Given the description of an element on the screen output the (x, y) to click on. 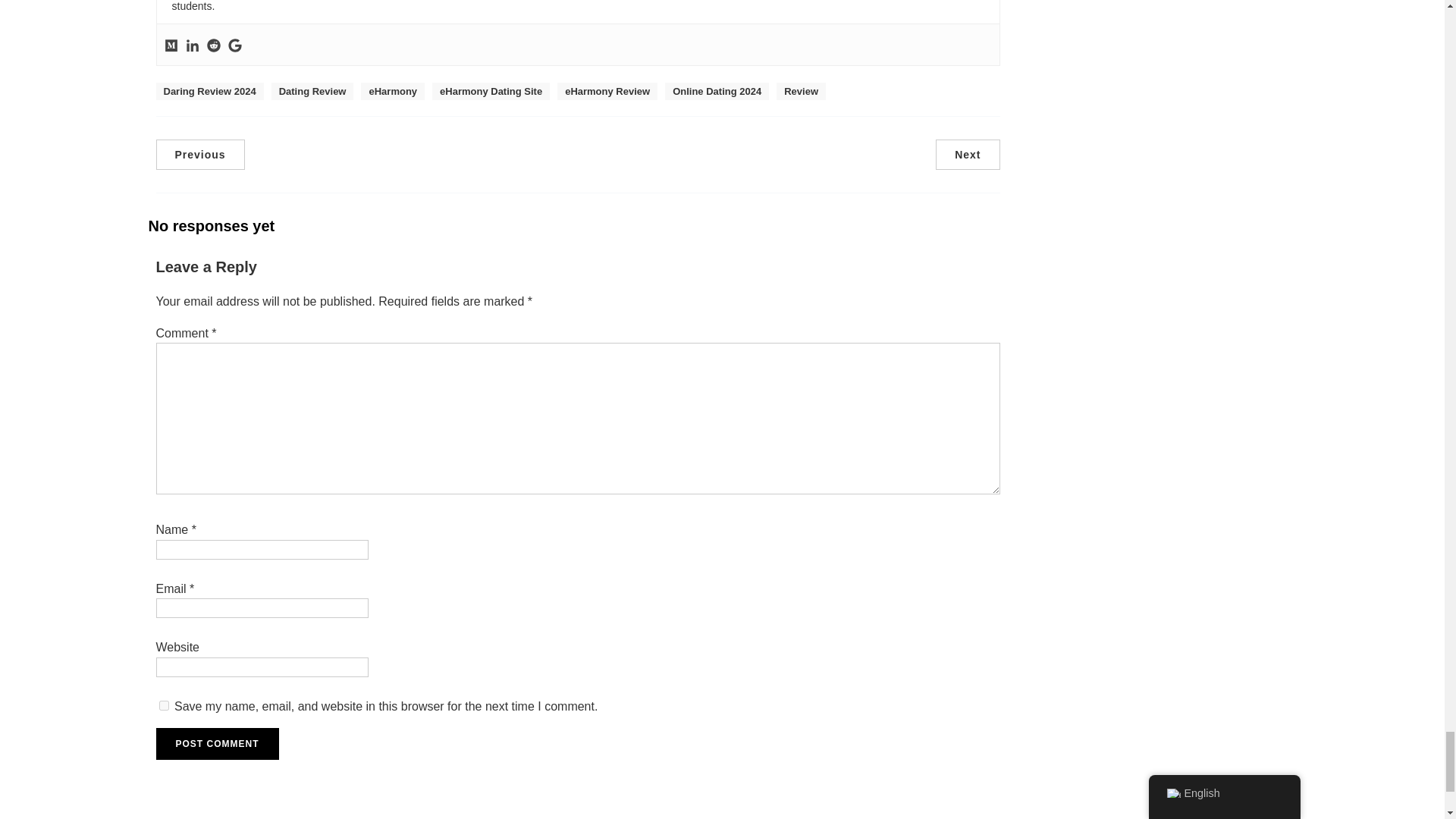
yes (163, 705)
Post Comment (217, 744)
